Given the description of an element on the screen output the (x, y) to click on. 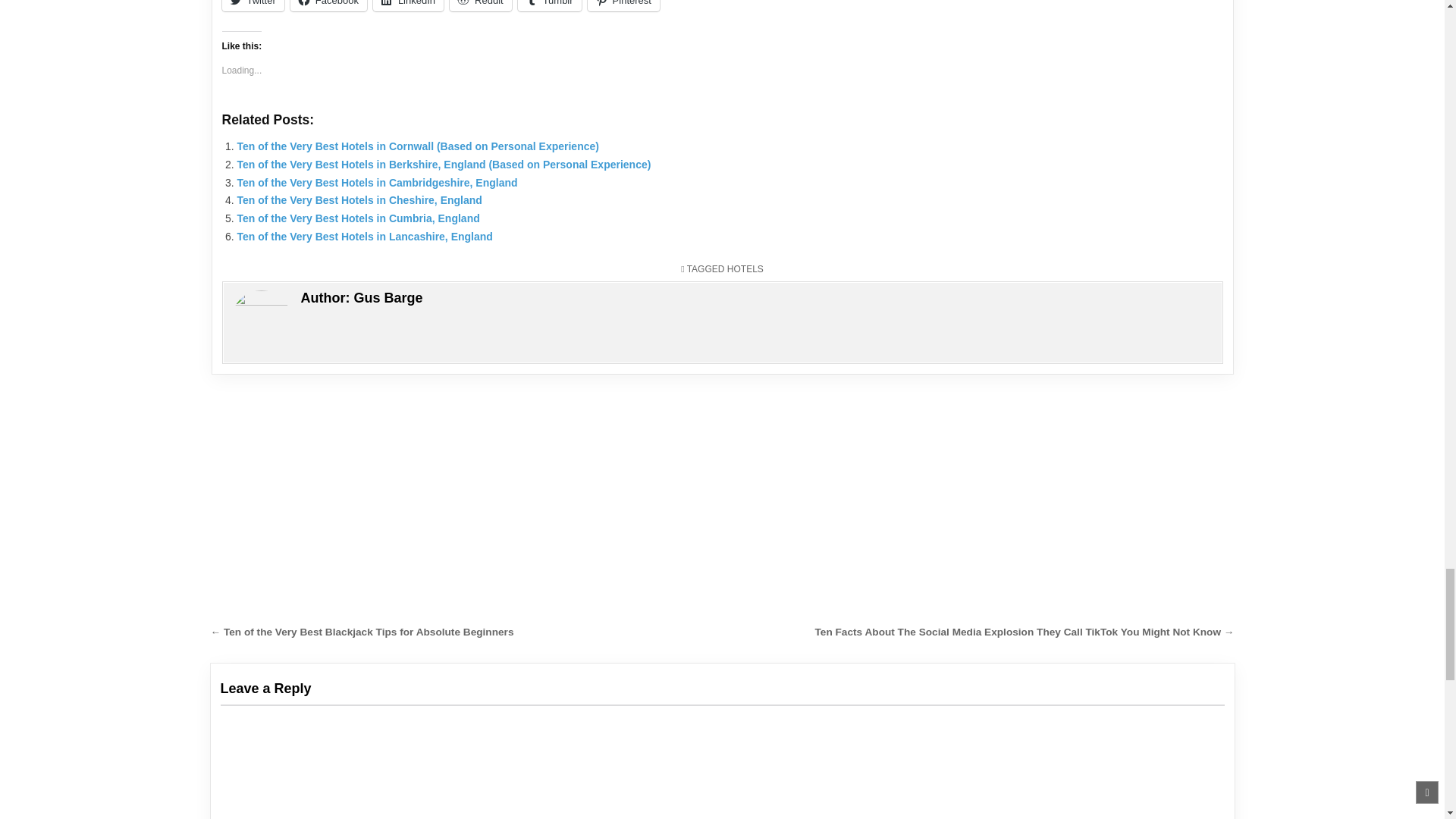
Ten of the Very Best Hotels in Cheshire, England (358, 200)
Click to share on Pinterest (623, 5)
Click to share on LinkedIn (408, 5)
Click to share on Tumblr (549, 5)
Click to share on Facebook (327, 5)
Reddit (480, 5)
Ten of the Very Best Hotels in Cambridgeshire, England (375, 182)
LinkedIn (408, 5)
Twitter (252, 5)
Tumblr (549, 5)
